Given the description of an element on the screen output the (x, y) to click on. 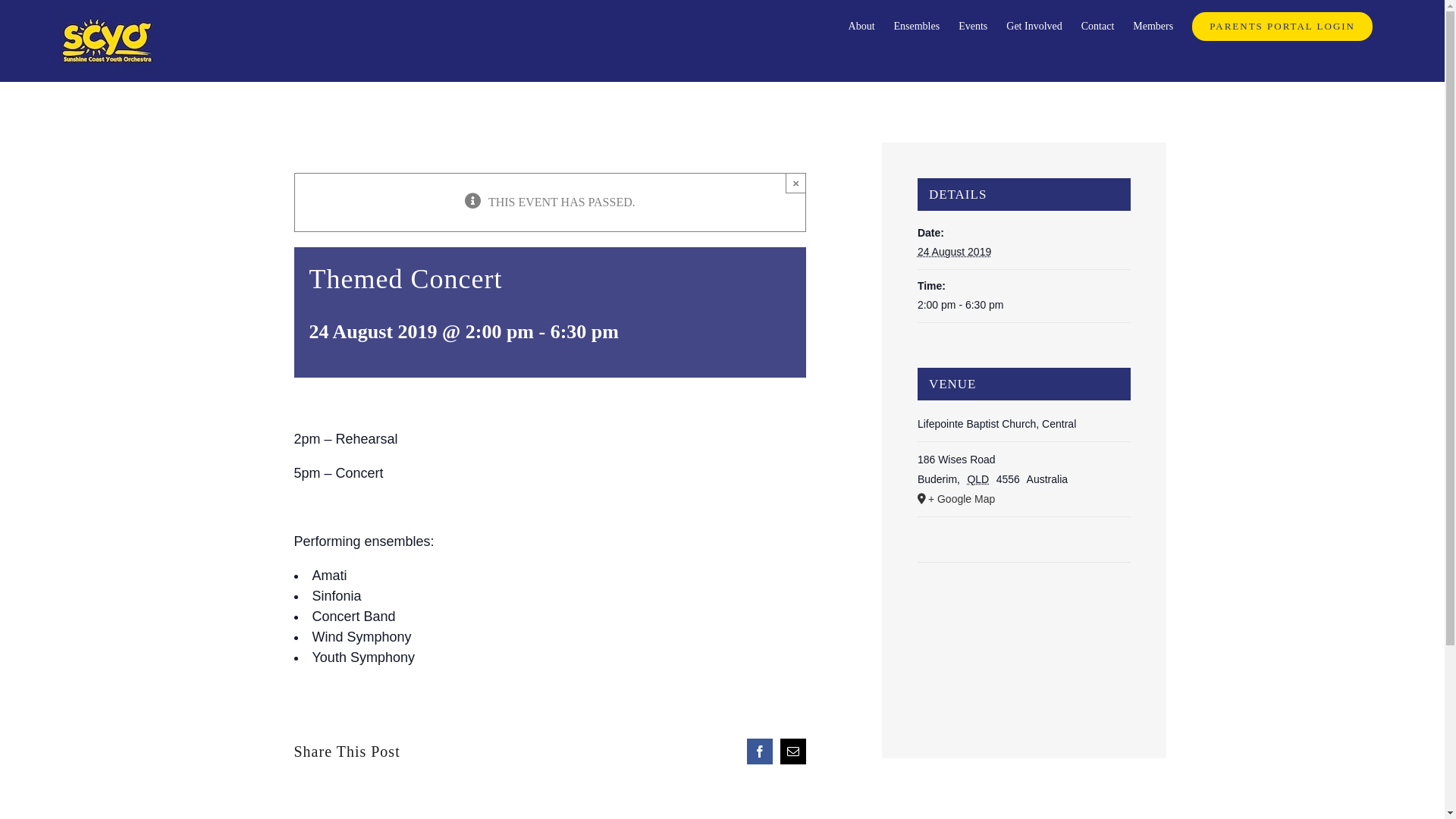
Ensembles Element type: text (917, 26)
Events Element type: text (972, 26)
+ Google Map Element type: text (1023, 498)
Facebook Element type: text (759, 751)
About Element type: text (861, 26)
Get Involved Element type: text (1033, 26)
Members Element type: text (1152, 26)
Email Element type: text (793, 751)
Contact Element type: text (1097, 26)
PARENTS PORTAL LOGIN Element type: text (1282, 26)
